Given the description of an element on the screen output the (x, y) to click on. 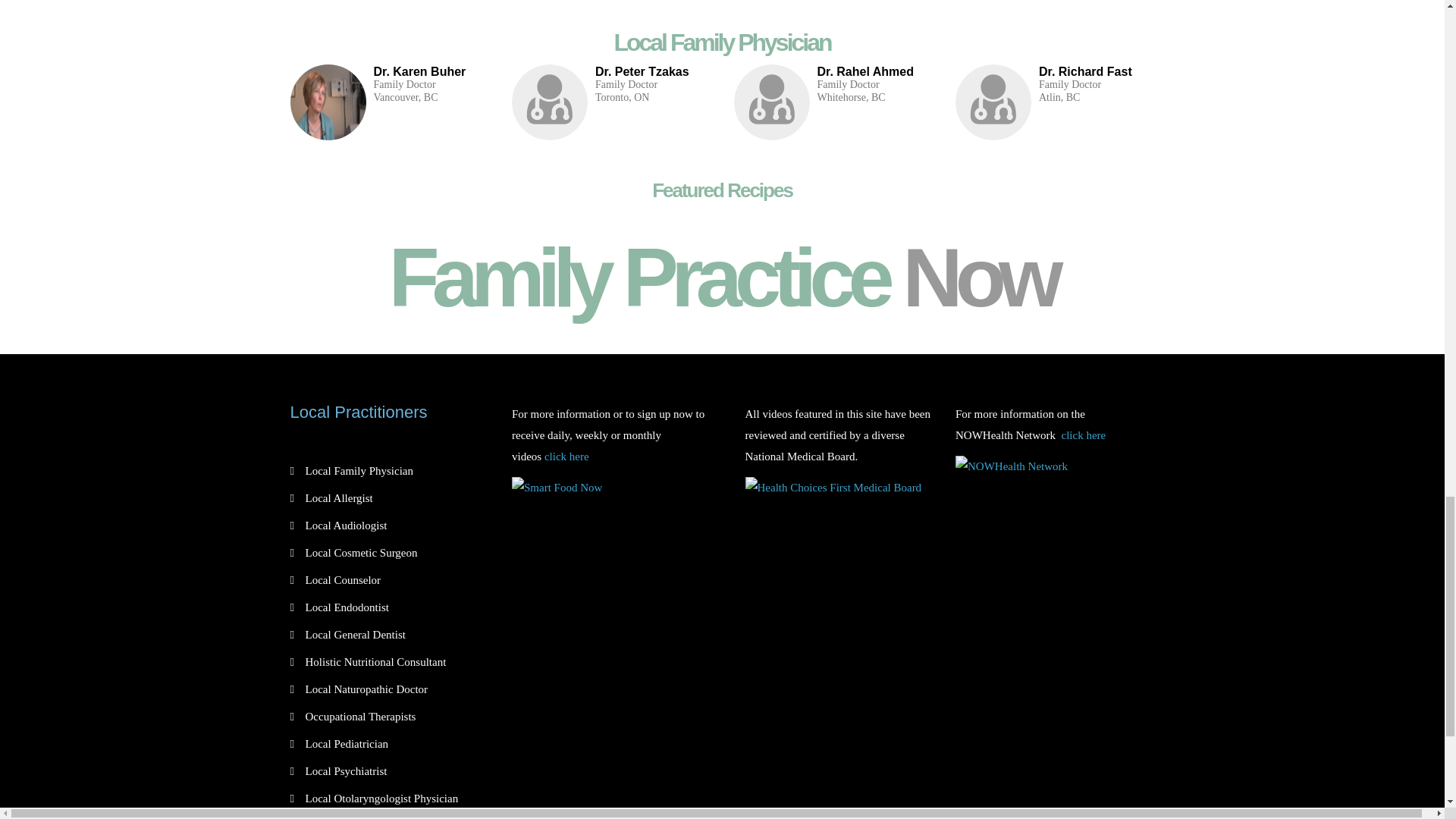
Dr. Richard Fast (1085, 71)
Dr. Peter Tzakas (641, 71)
Dr. Karen Buher (418, 71)
Dr. Rahel Ahmed (865, 71)
